Given the description of an element on the screen output the (x, y) to click on. 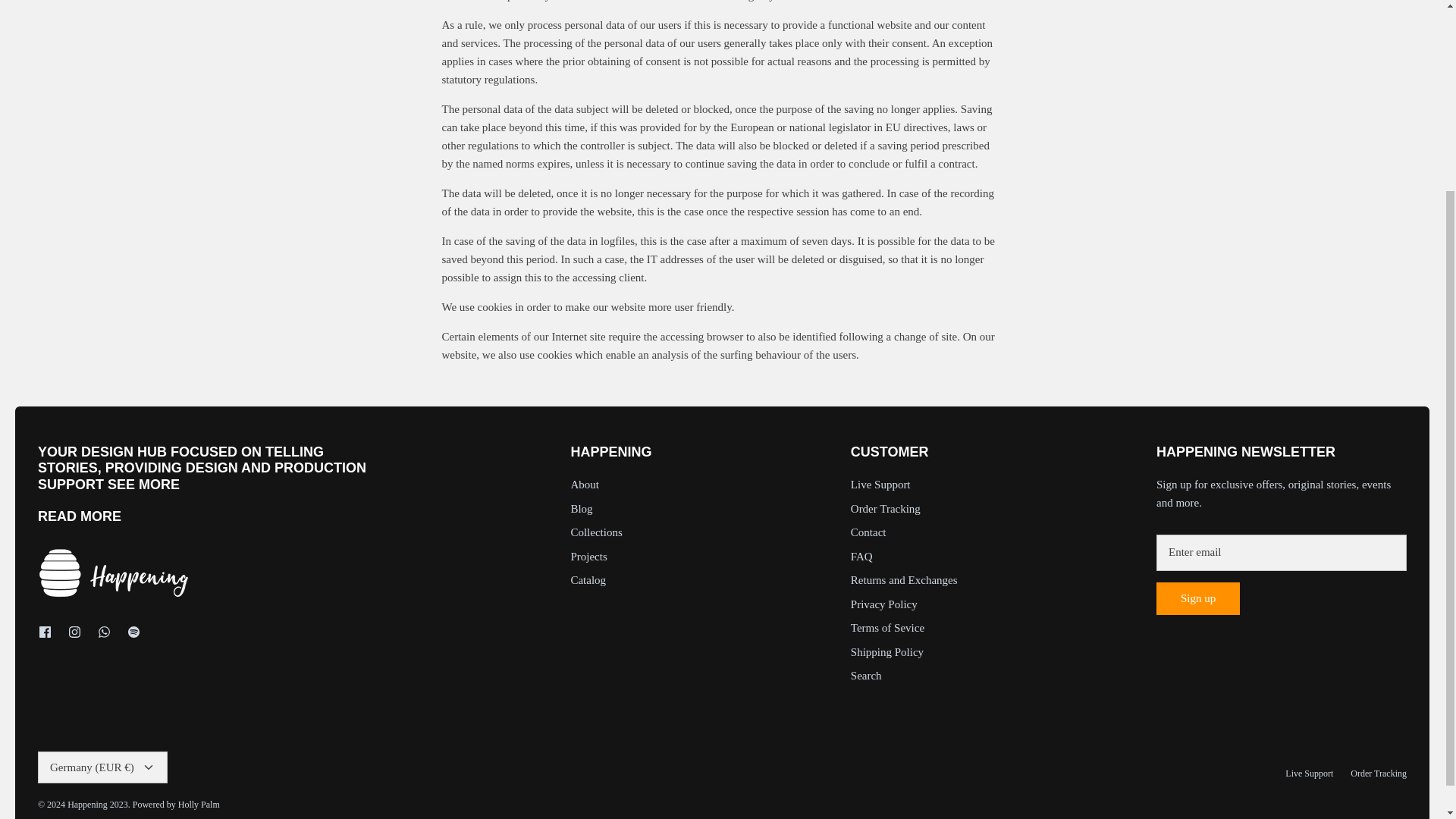
About (78, 516)
Facebook (44, 632)
Instagram (74, 632)
